Given the description of an element on the screen output the (x, y) to click on. 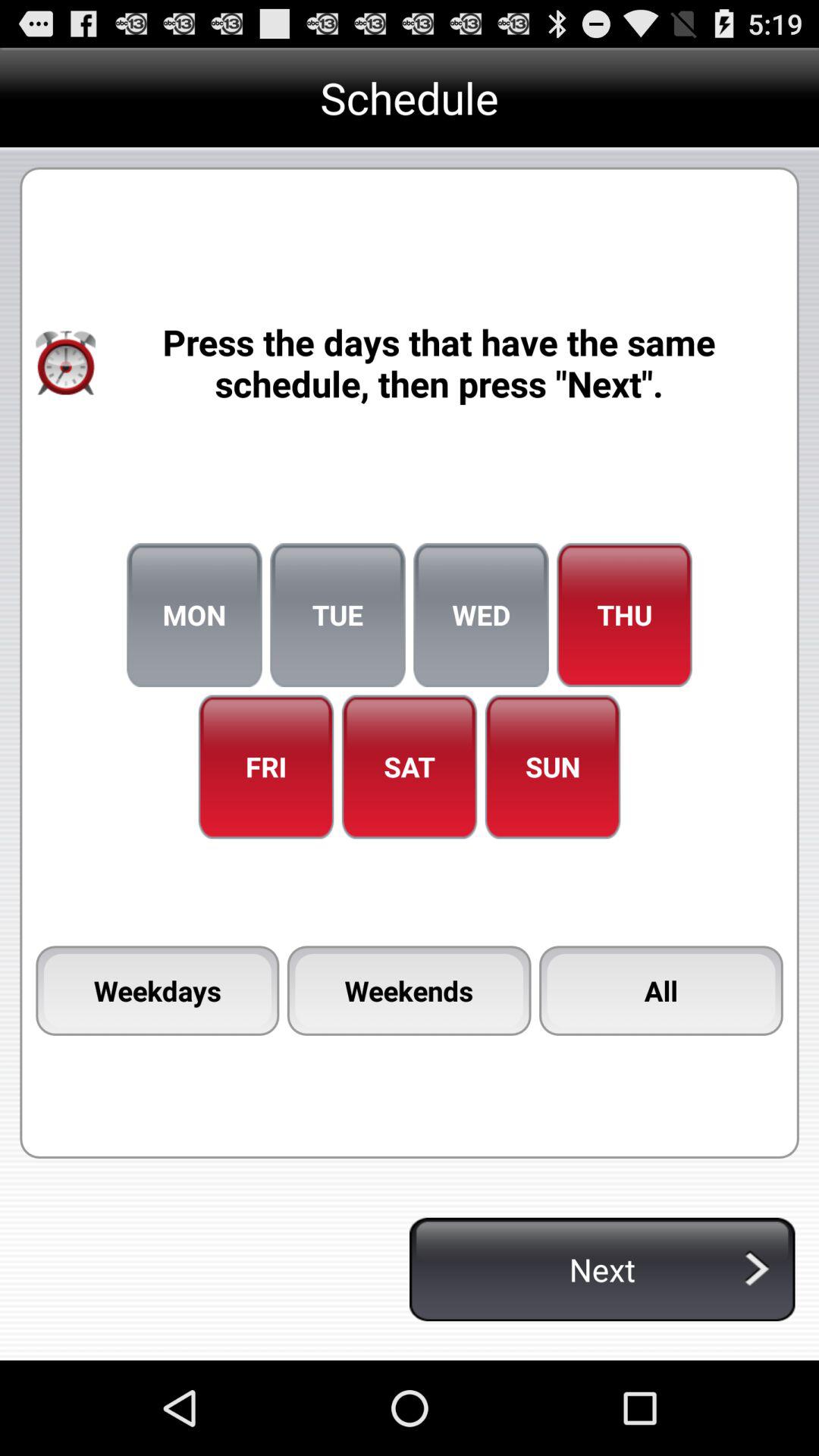
launch item to the left of the all icon (409, 990)
